Given the description of an element on the screen output the (x, y) to click on. 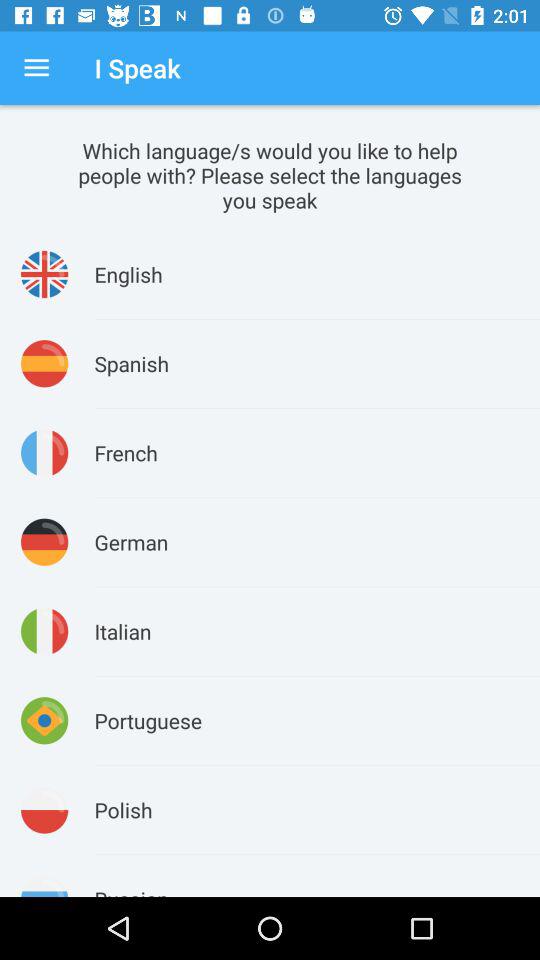
click the item to the left of i speak item (36, 68)
